Given the description of an element on the screen output the (x, y) to click on. 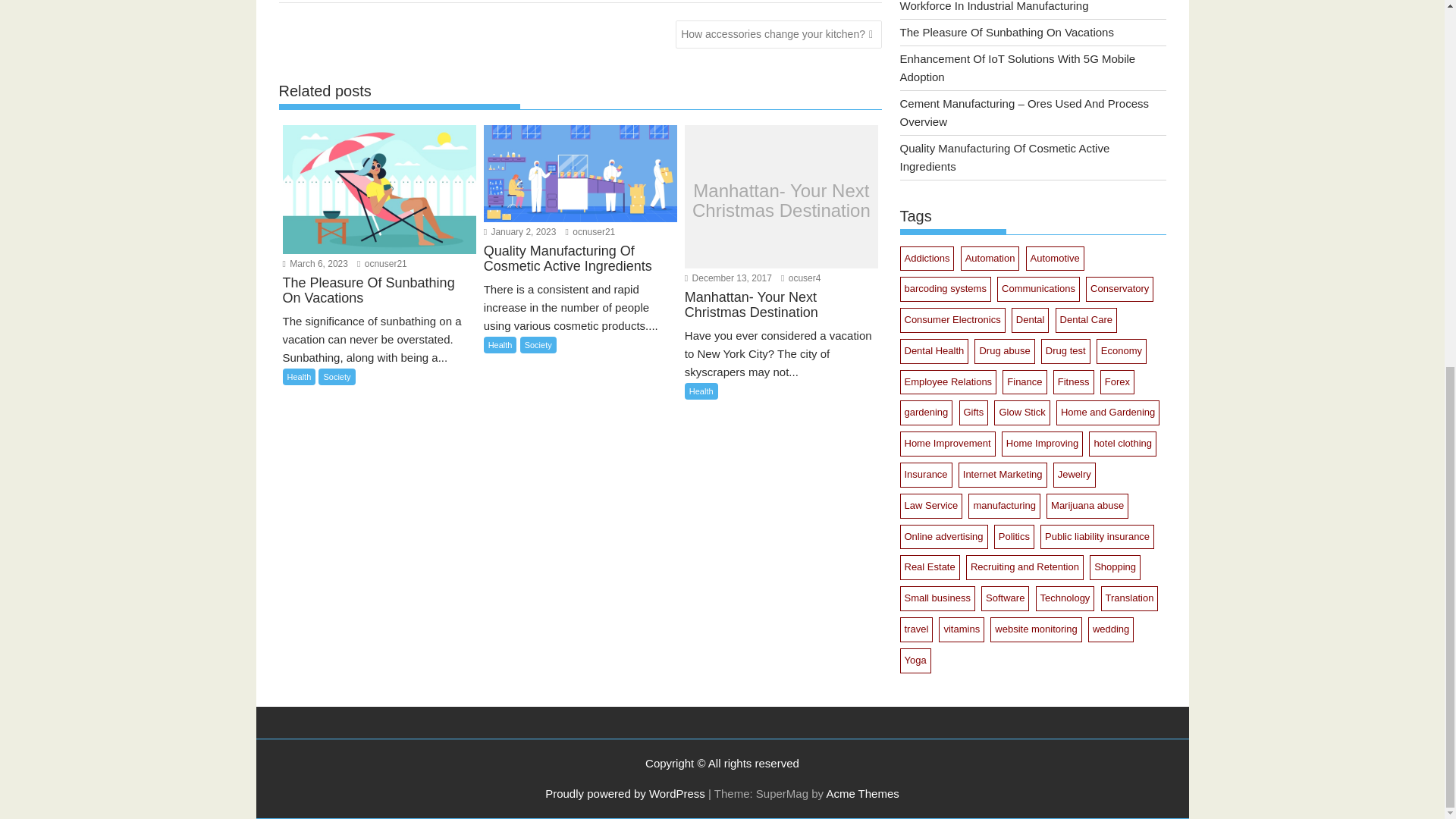
ocnuser21 (381, 263)
ocuser4 (800, 277)
ocnuser21 (590, 231)
